Given the description of an element on the screen output the (x, y) to click on. 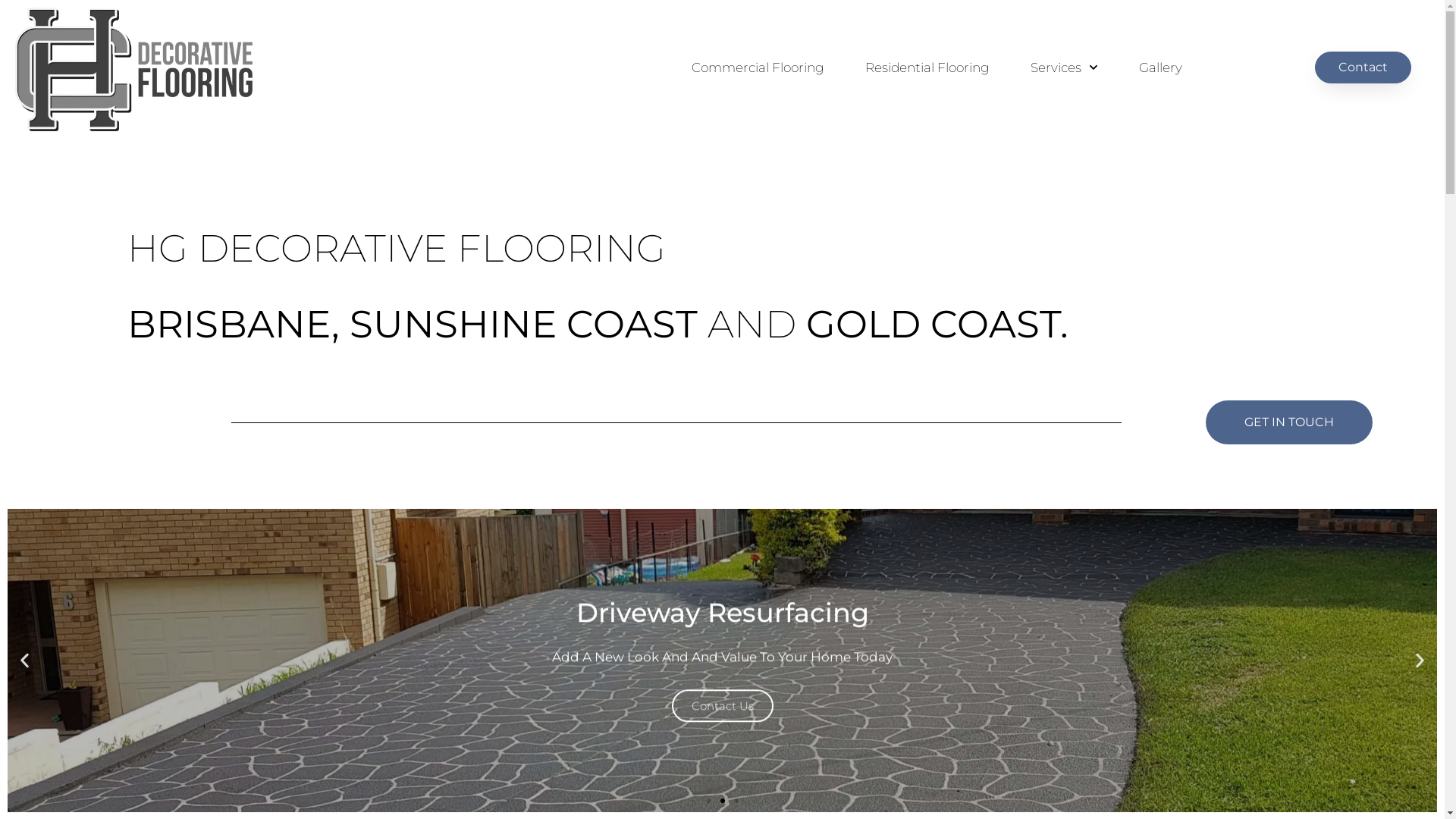
Contact Element type: text (1362, 67)
Residential Flooring Element type: text (927, 67)
Gallery Element type: text (1160, 67)
GET IN TOUCH Element type: text (1288, 422)
Services Element type: text (1064, 67)
Commercial Flooring Element type: text (757, 67)
